Given the description of an element on the screen output the (x, y) to click on. 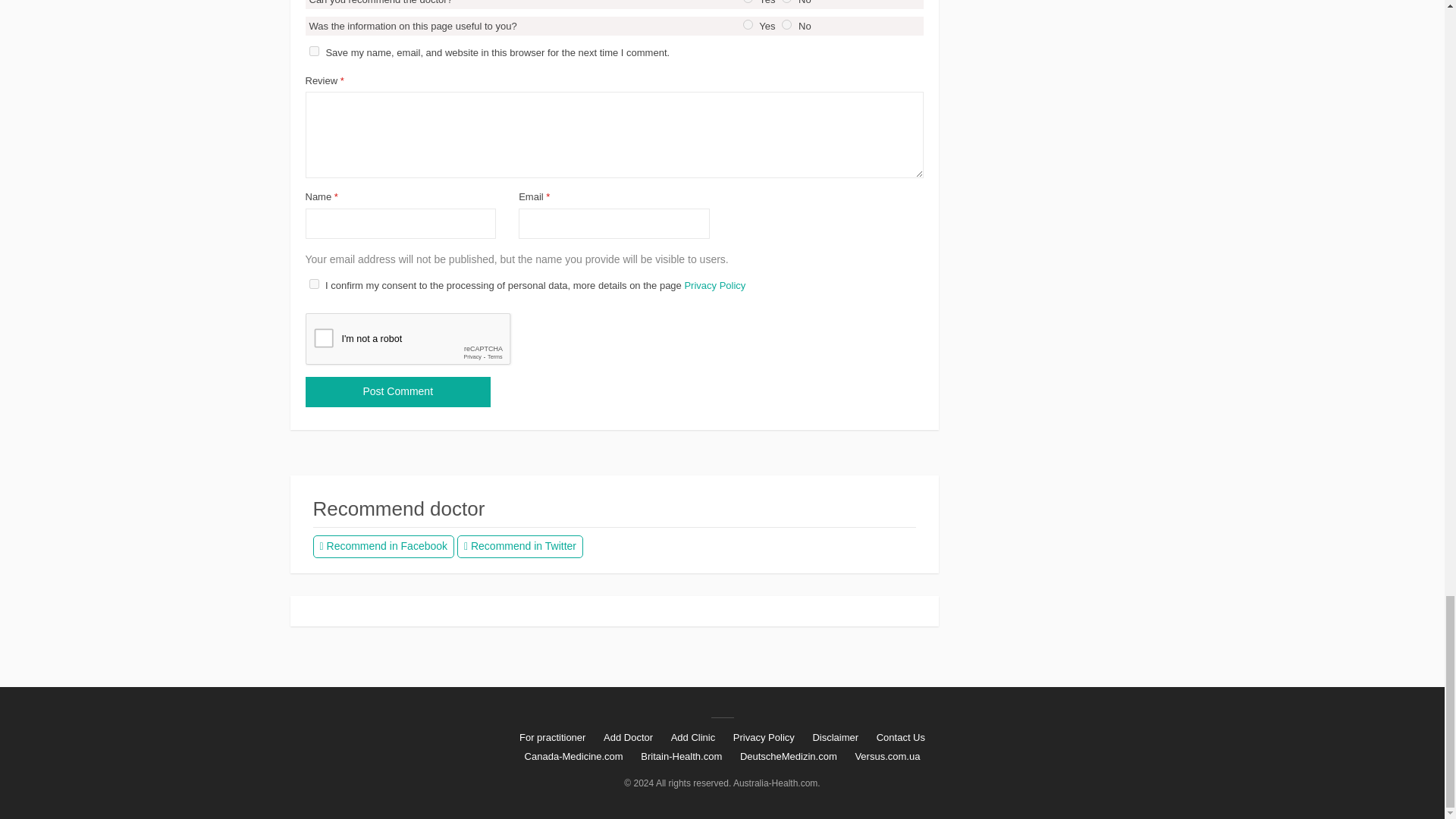
Recommend in Twitter (520, 546)
Add Clinic (693, 737)
No (786, 24)
Yes (747, 24)
Disclaimer (835, 737)
yes (313, 50)
Recommend in Facebook (383, 546)
reCAPTCHA (419, 342)
Privacy Policy (763, 737)
Add Doctor (628, 737)
